Given the description of an element on the screen output the (x, y) to click on. 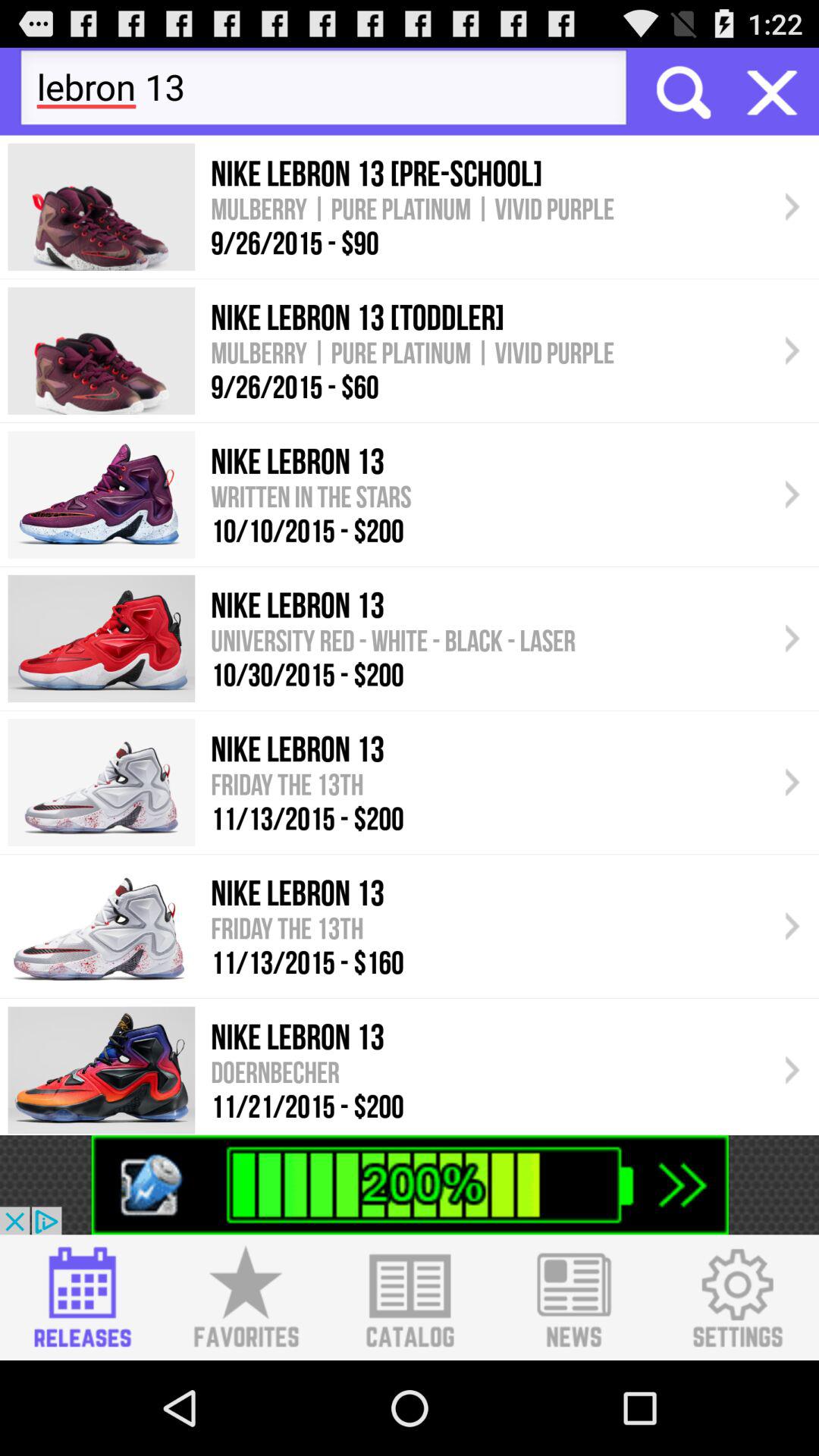
favorites select option (245, 1297)
